Given the description of an element on the screen output the (x, y) to click on. 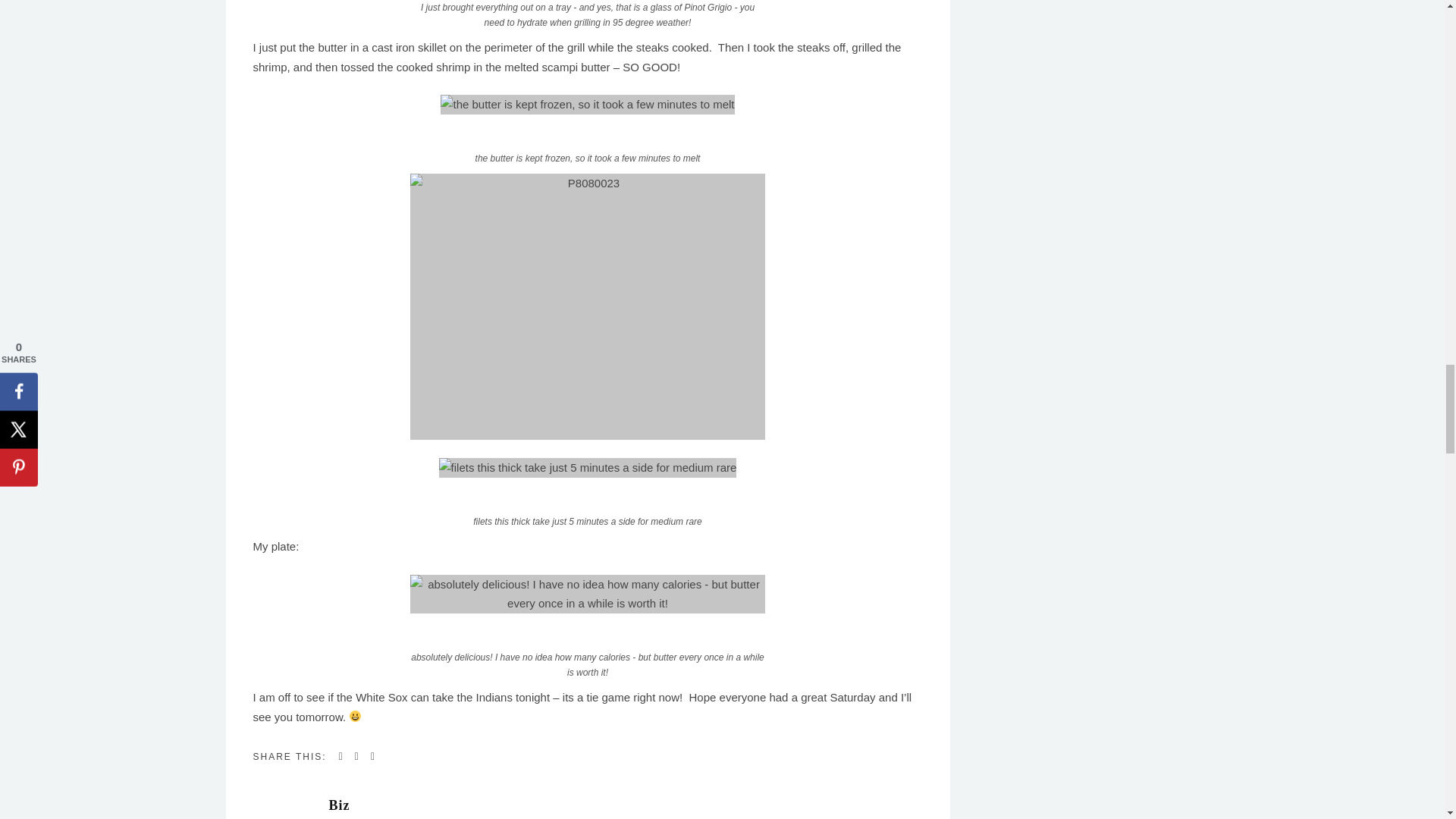
P8080023 (587, 306)
P8080015 (587, 467)
P8080028 (587, 593)
P8080013 (587, 104)
